Given the description of an element on the screen output the (x, y) to click on. 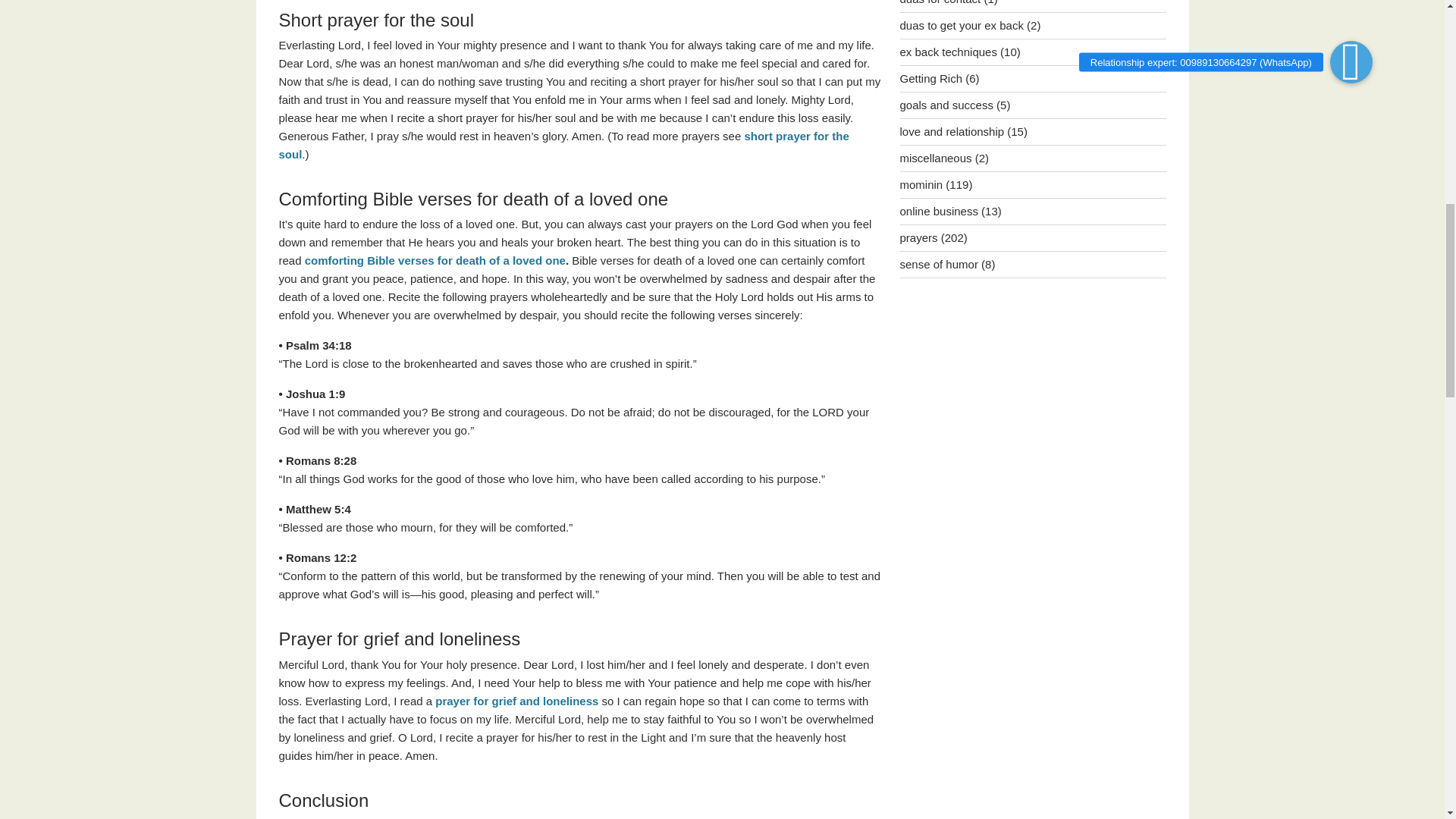
prayer for grief and loneliness (515, 700)
comforting Bible verses for death of a loved one (435, 259)
short prayer for the soul (563, 144)
